Given the description of an element on the screen output the (x, y) to click on. 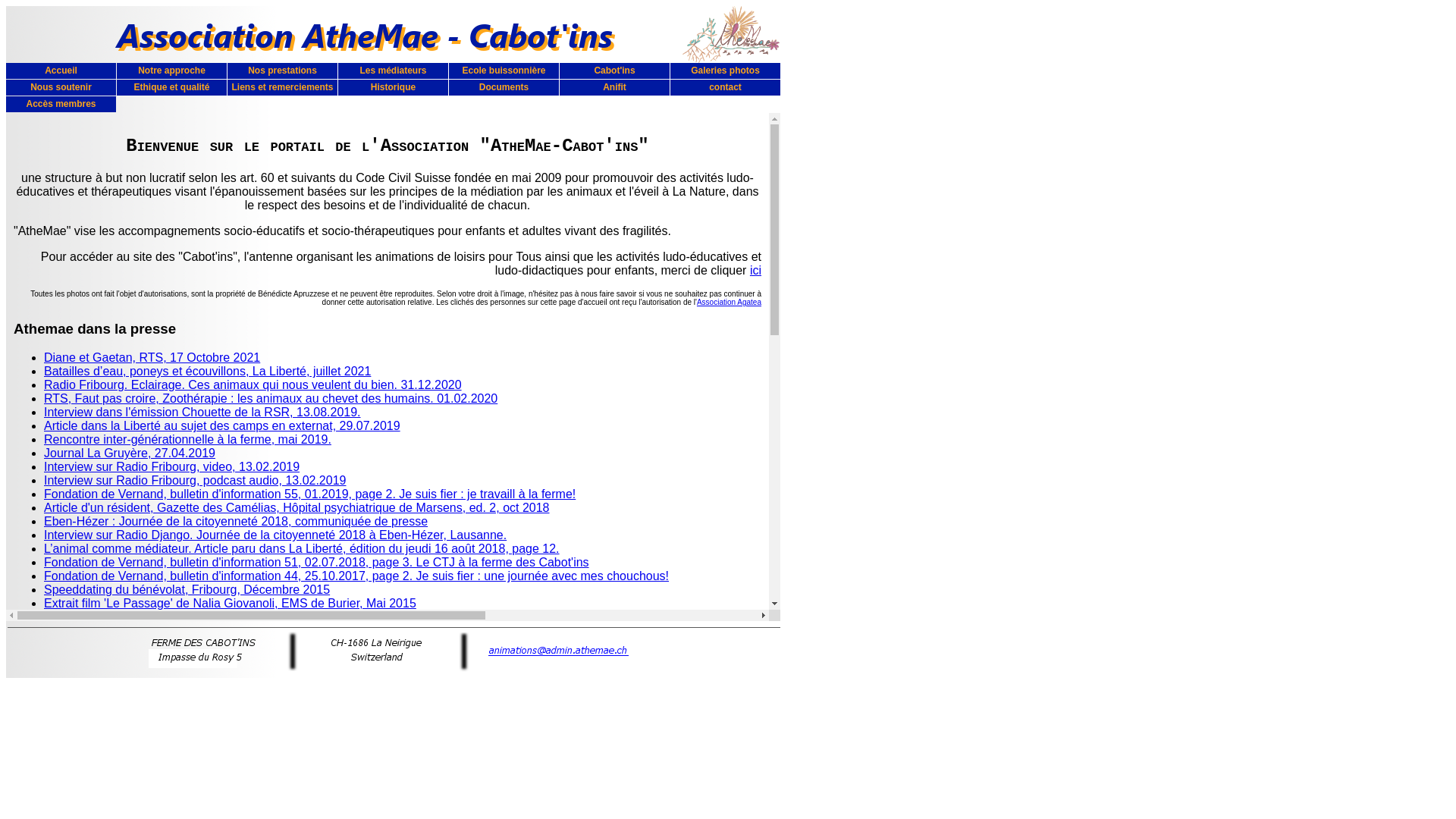
24 Heures, 31.12.2011 Element type: text (105, 739)
contact Element type: text (725, 87)
24 Heures, mars 2011 Element type: text (103, 793)
Double page, Journal de la Fondation Beau-Site, mars 2014 Element type: text (205, 643)
ici Element type: text (755, 269)
Historique Element type: text (393, 87)
Anifit Element type: text (614, 87)
Nos prestations Element type: text (282, 70)
Notre approche Element type: text (171, 70)
24 Heures, 30.12.2011 Element type: text (105, 752)
Galeries photos Element type: text (725, 70)
Liens et remerciements Element type: text (282, 87)
Interview sur Radio Fribourg, video, 13.02.2019 Element type: text (171, 466)
Documents Element type: text (503, 87)
Journal Clin d'oeil, Mars 2010 Element type: text (123, 807)
Nous soutenir Element type: text (61, 87)
Accueil Element type: text (61, 70)
Interview sur Radio Fribourg, podcast audio, 13.02.2019 Element type: text (194, 479)
Diane et Gaetan, RTS, 17 Octobre 2021 Element type: text (151, 357)
Cabot'ins Element type: text (614, 70)
Association Agatea Element type: text (728, 302)
